Given the description of an element on the screen output the (x, y) to click on. 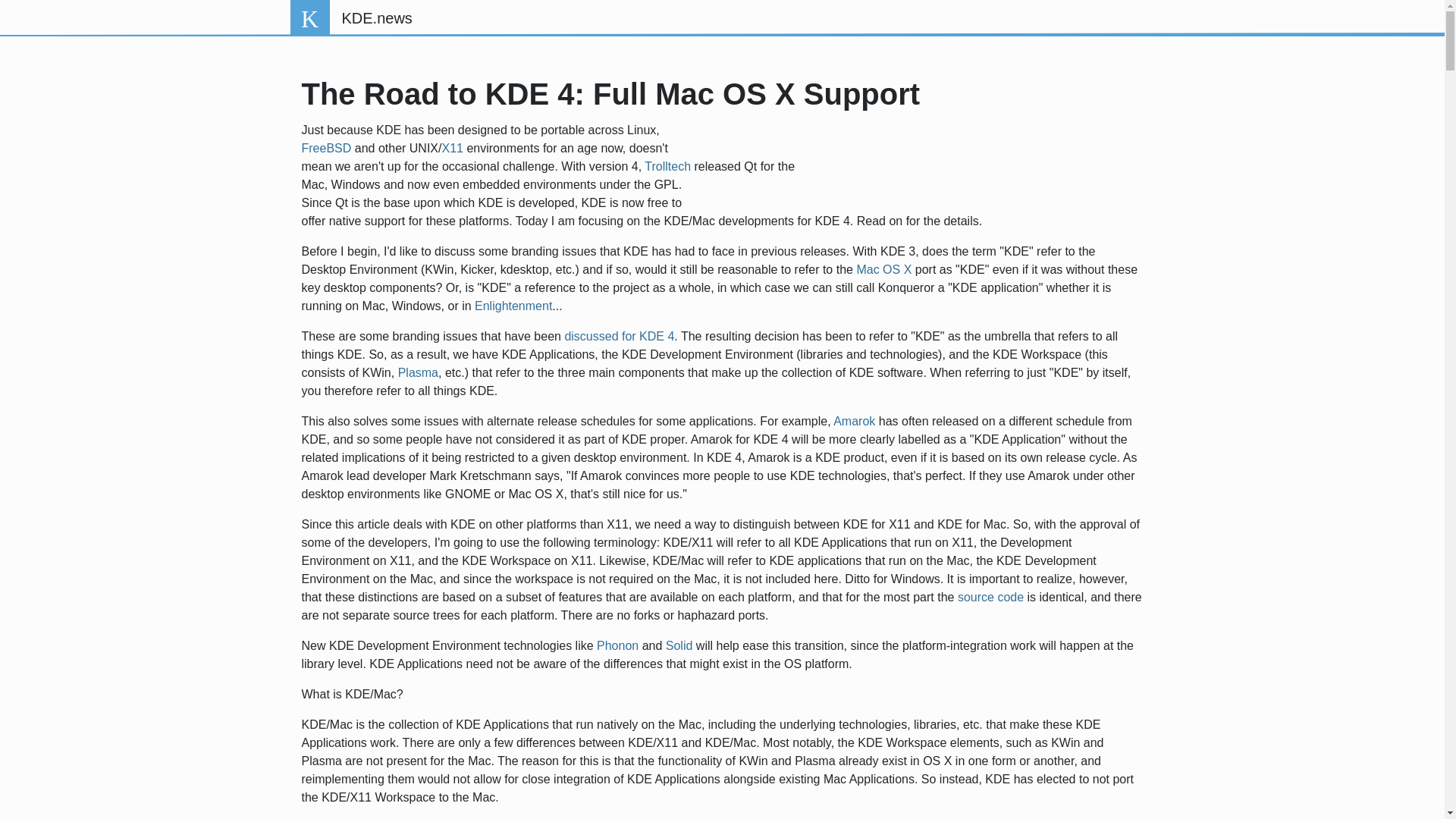
Home (376, 18)
source code (990, 596)
FreeBSD (326, 147)
discussed for KDE 4 (619, 336)
Home (309, 18)
Trolltech (667, 165)
Amarok (853, 420)
Phonon (617, 645)
Enlightenment (512, 305)
Solid (679, 645)
X11 (452, 147)
Plasma (417, 372)
Mac OS X (883, 269)
